Given the description of an element on the screen output the (x, y) to click on. 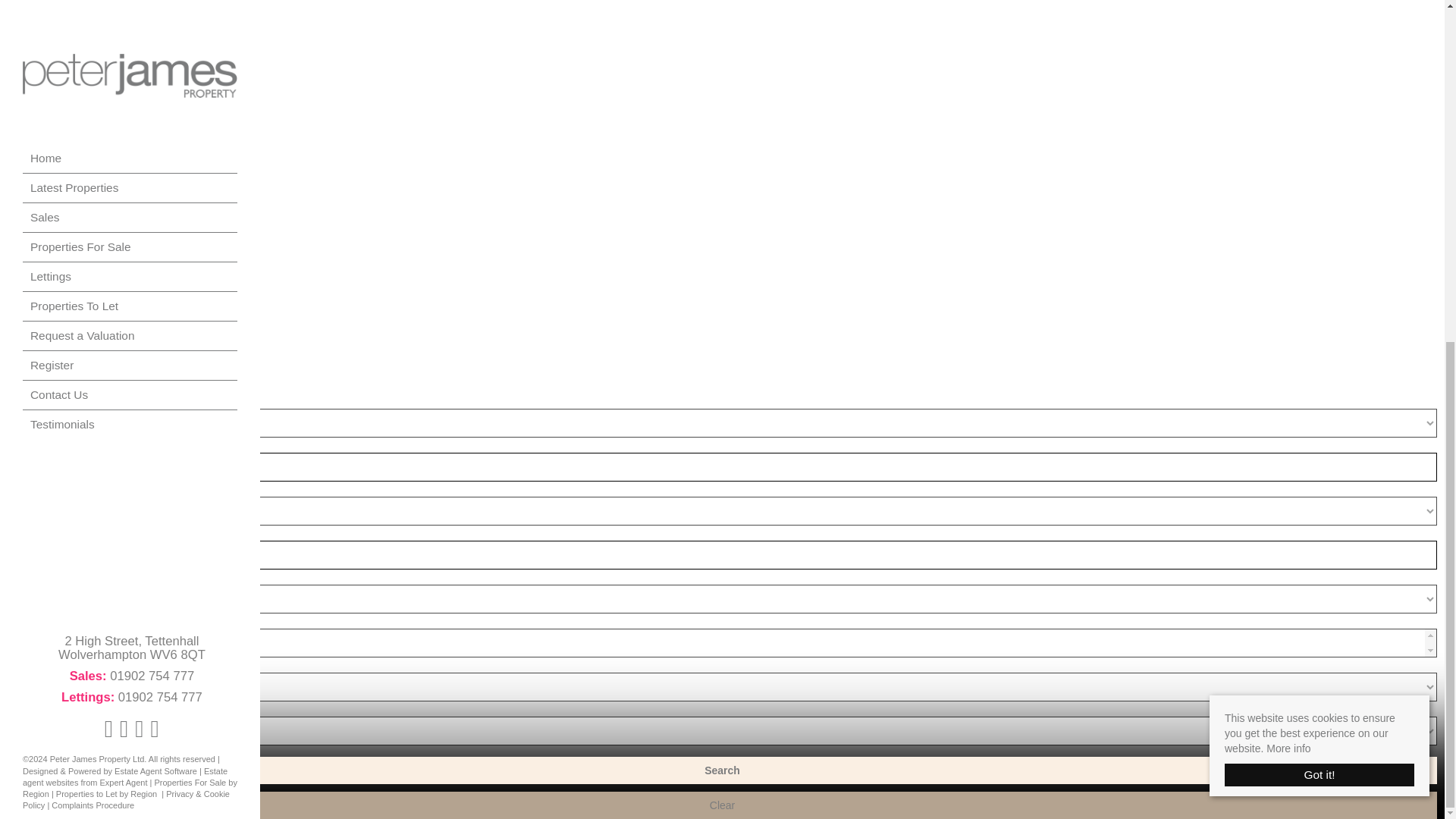
Properties to Let by Region (106, 212)
Estate agent websites from Expert Agent (125, 195)
Properties For Sale by Region (130, 207)
Estate Agent Software (155, 189)
Complaints Procedure (91, 224)
